Given the description of an element on the screen output the (x, y) to click on. 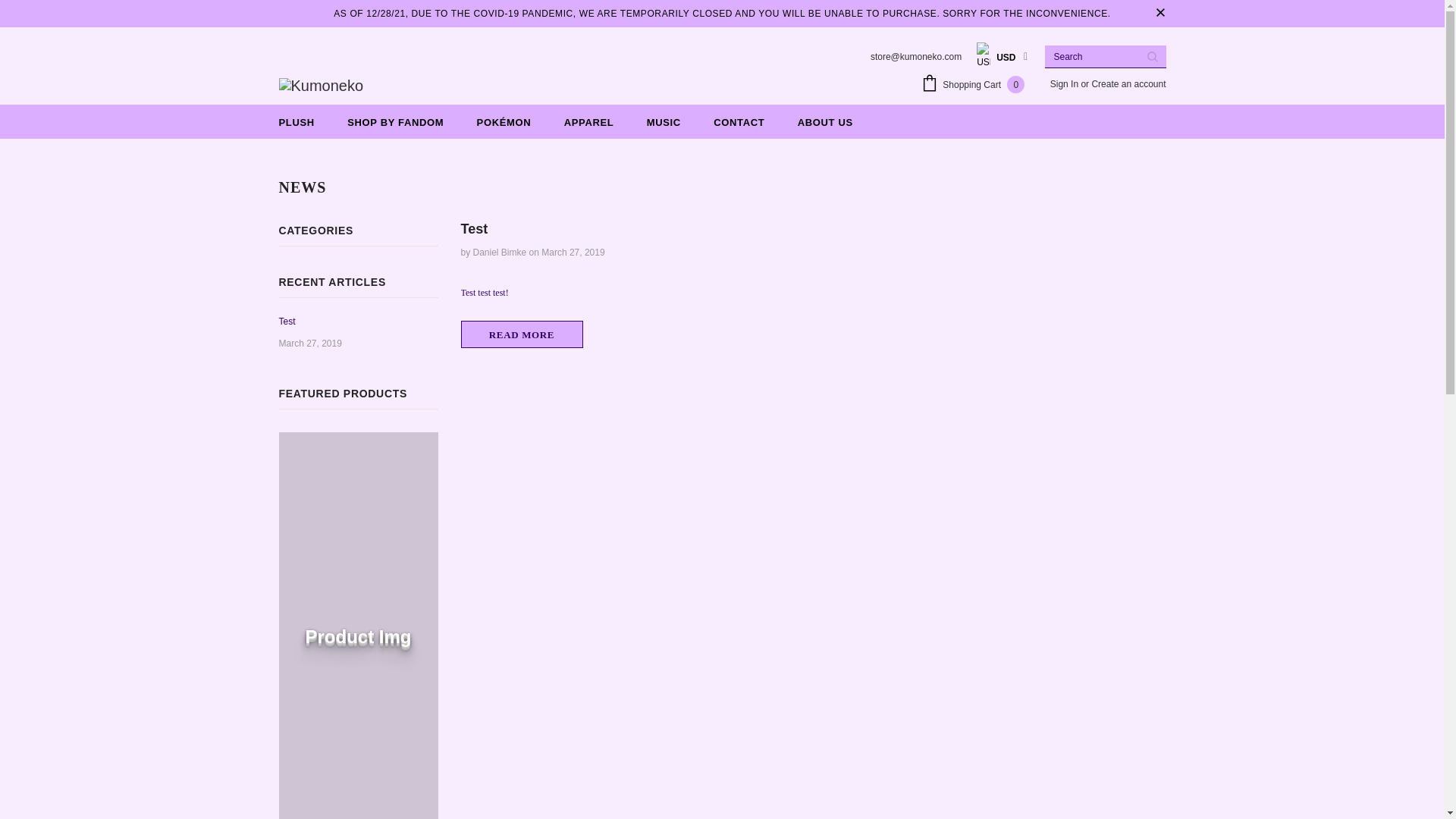
Create an account (1128, 83)
Shopping Cart 0 (976, 85)
close (1160, 13)
Sign In (1065, 83)
PLUSH (296, 121)
